Given the description of an element on the screen output the (x, y) to click on. 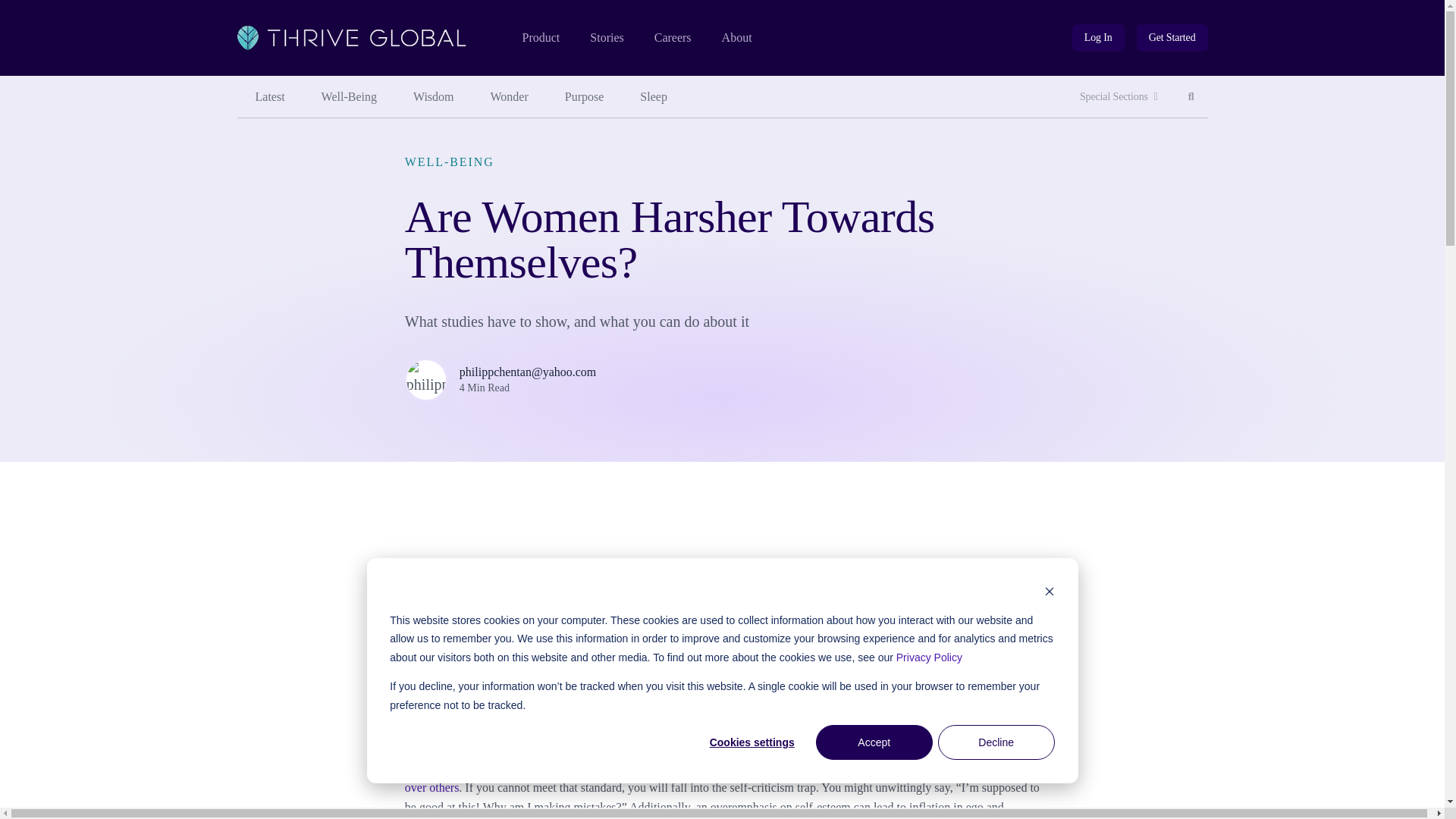
Well-Being (348, 96)
Purpose (585, 96)
About (1191, 97)
Latest (737, 37)
btn-primary (268, 96)
Careers (1172, 37)
Wisdom (672, 37)
Sleep (432, 96)
Get Started (653, 96)
Log In (1172, 37)
btn-info (1097, 37)
Stories (1097, 37)
Wonder (606, 37)
Product (509, 96)
